Given the description of an element on the screen output the (x, y) to click on. 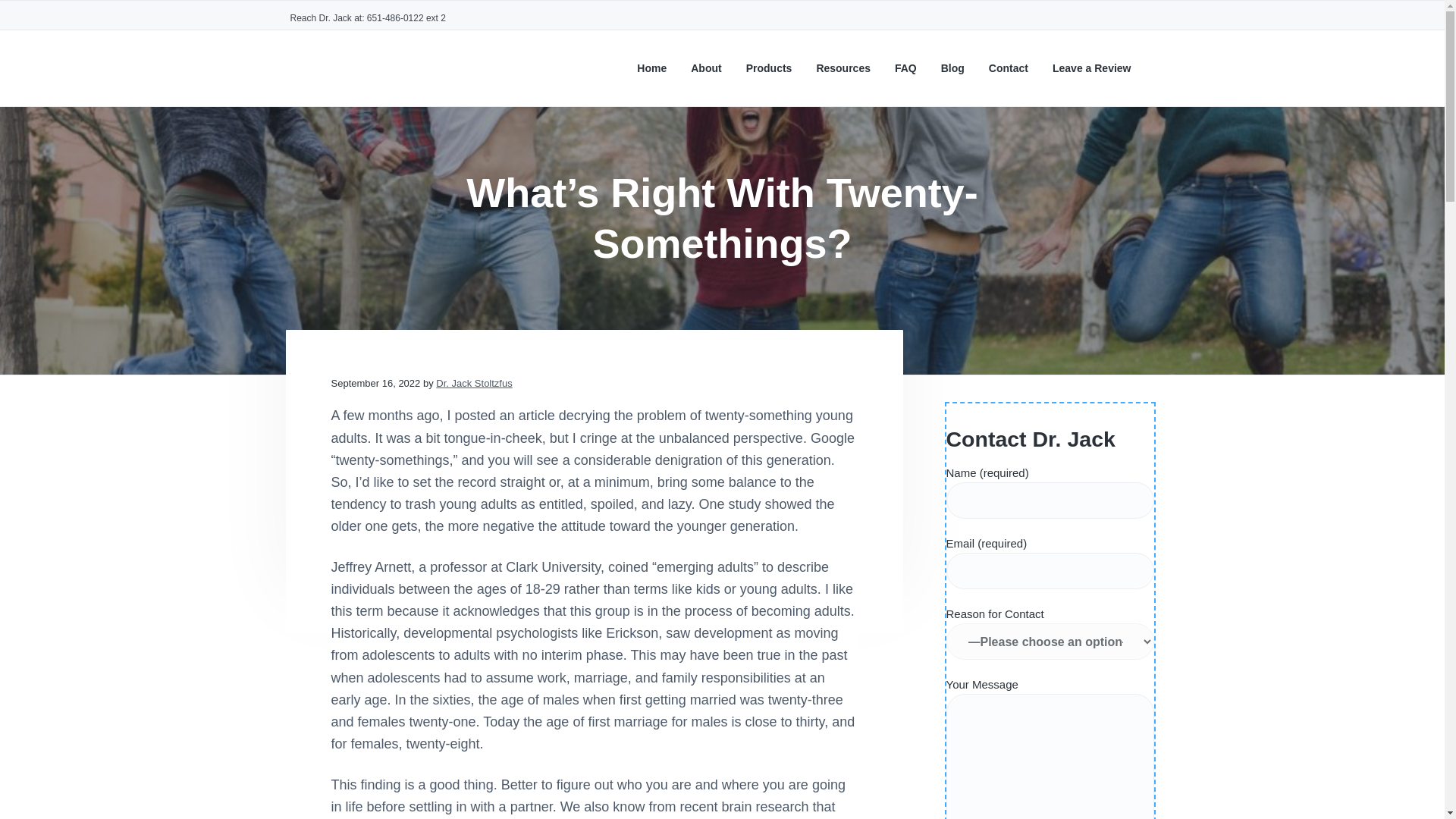
Home (651, 67)
Resources (842, 67)
Contact (1007, 67)
FAQ (906, 67)
Products (768, 67)
Dr. Jack Stoltzfus (473, 383)
Search (60, 18)
Blog (951, 67)
Leave a Review (1091, 67)
